Given the description of an element on the screen output the (x, y) to click on. 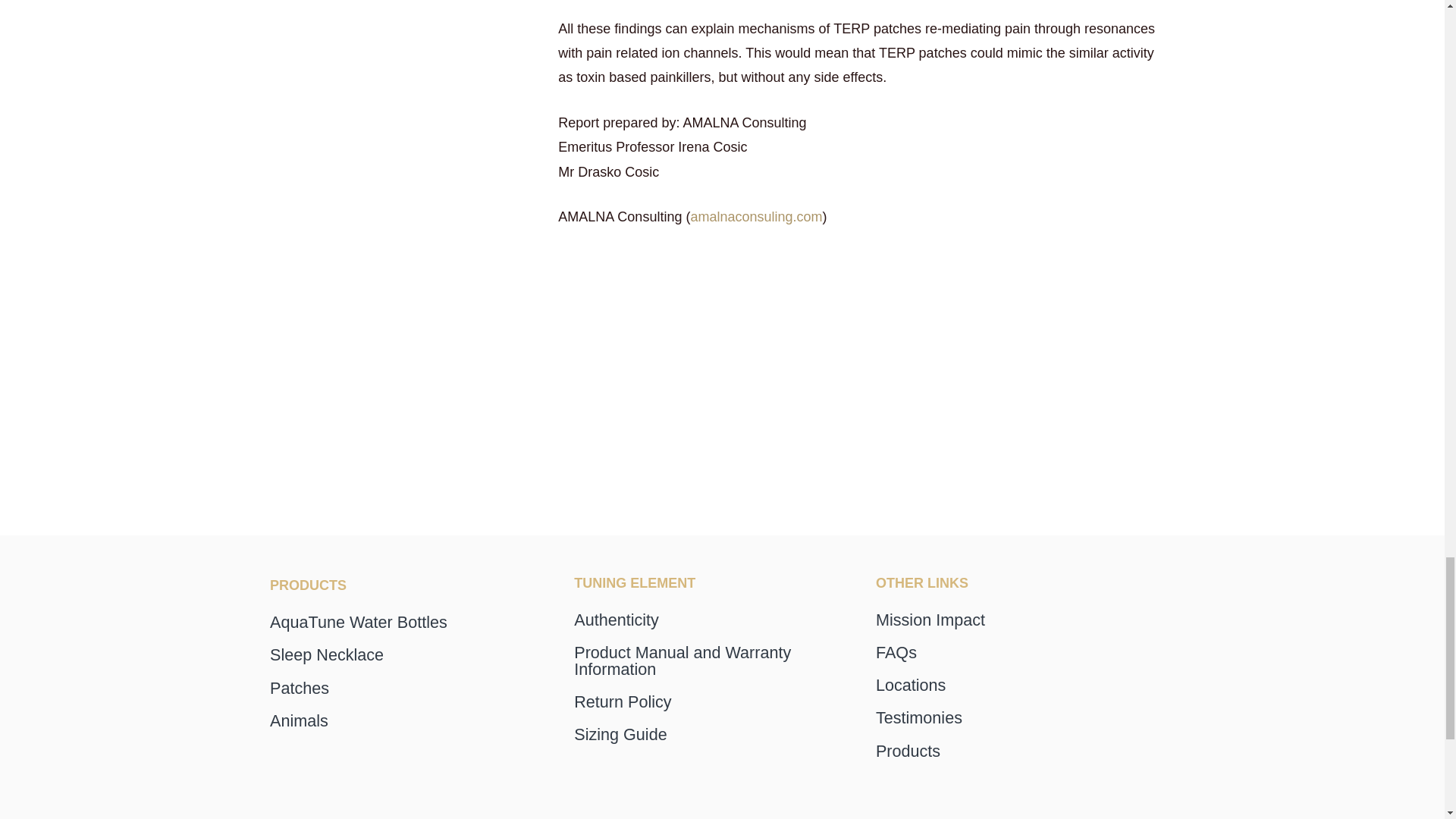
amalnaconsuling.com (756, 216)
